Given the description of an element on the screen output the (x, y) to click on. 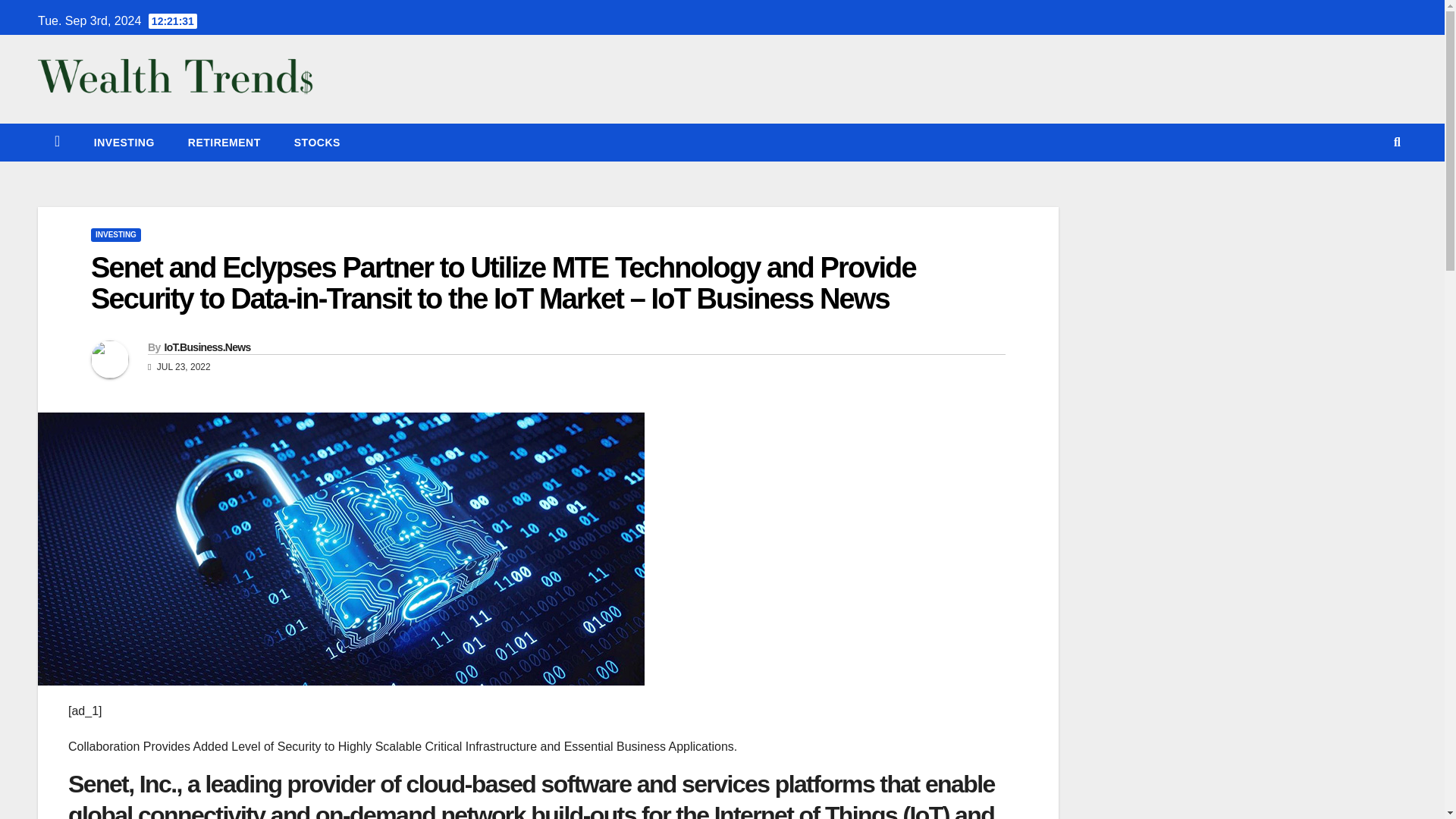
Stocks (317, 142)
Investing (124, 142)
Retirement (224, 142)
INVESTING (124, 142)
RETIREMENT (224, 142)
STOCKS (317, 142)
INVESTING (115, 234)
IoT.Business.News (206, 346)
